Given the description of an element on the screen output the (x, y) to click on. 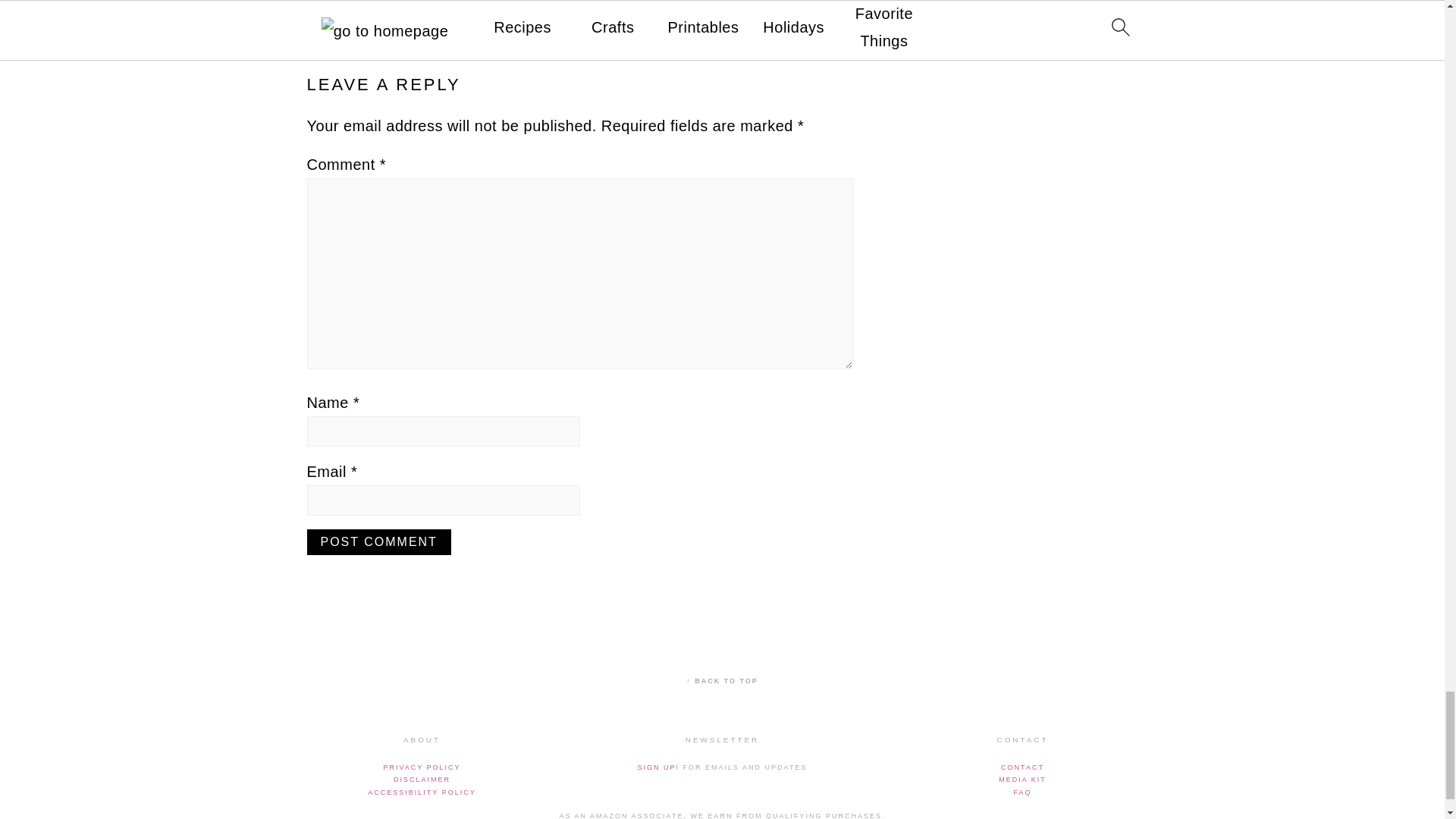
Post Comment (377, 542)
